Given the description of an element on the screen output the (x, y) to click on. 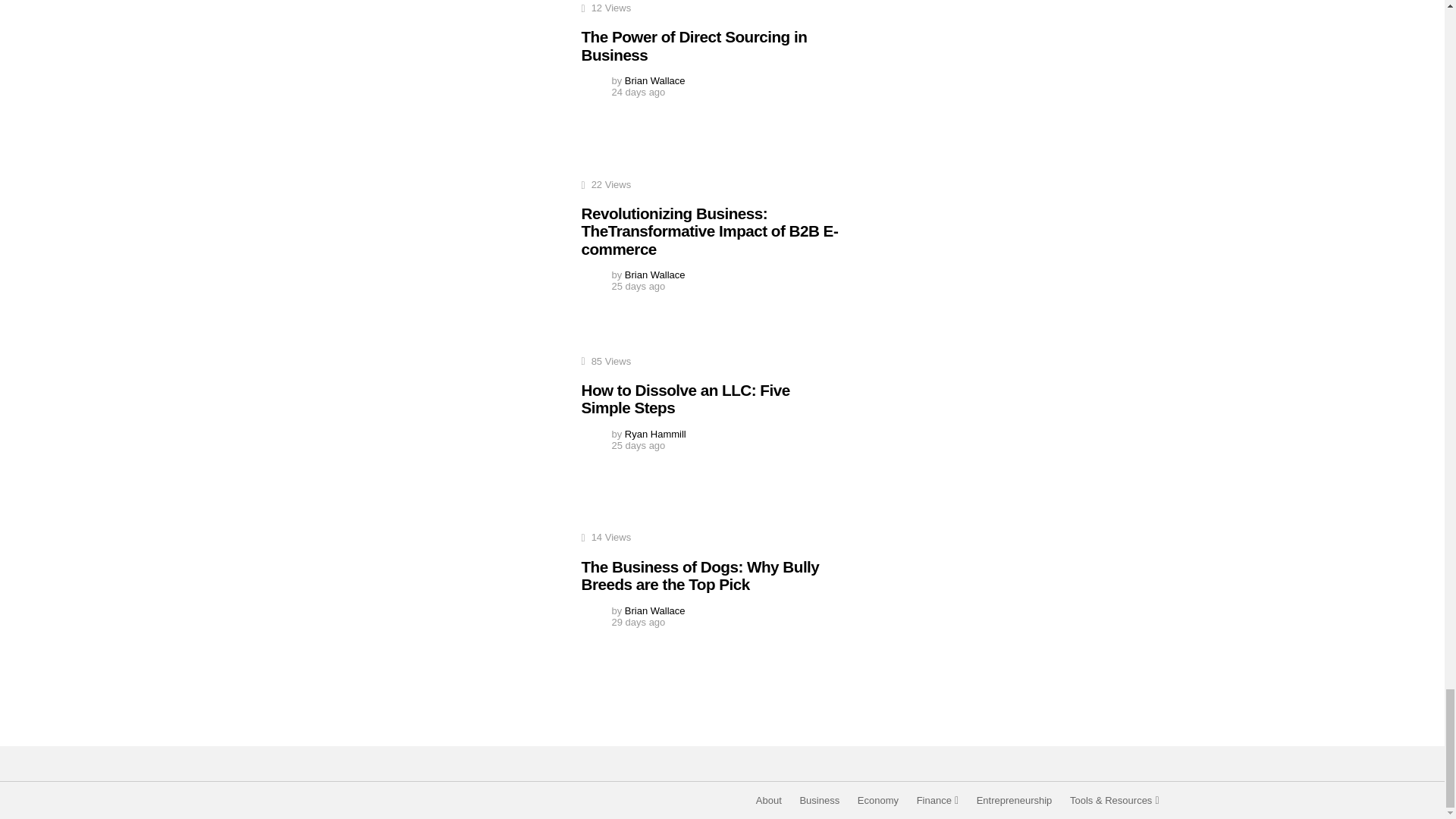
Posts by Ryan Hammill (654, 433)
July 28, 2024, 1:49 am (638, 445)
July 29, 2024, 7:25 am (638, 91)
Posts by Brian Wallace (654, 80)
July 28, 2024, 6:14 am (638, 285)
Posts by Brian Wallace (654, 274)
